Given the description of an element on the screen output the (x, y) to click on. 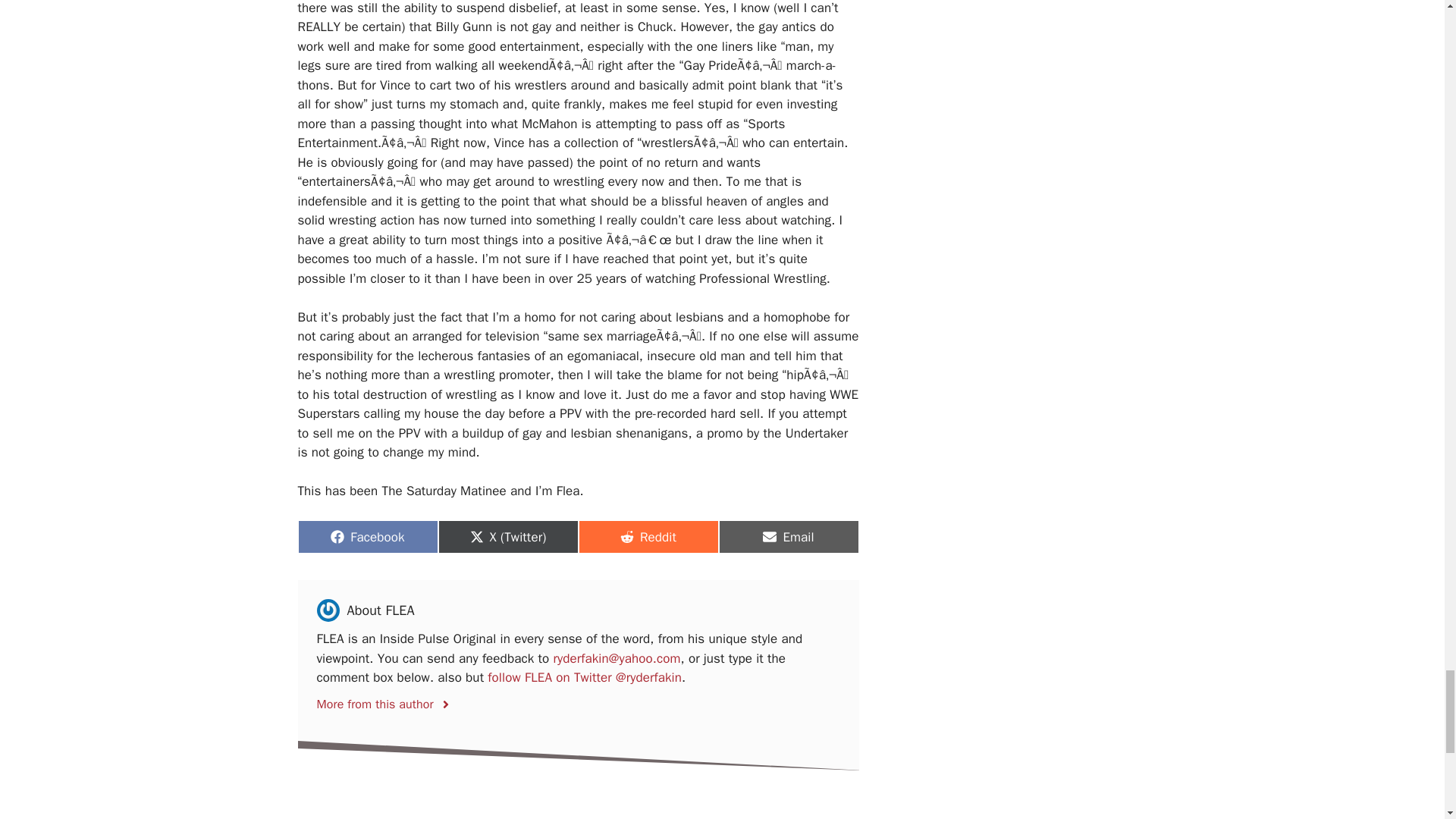
More from this author (789, 536)
